Given the description of an element on the screen output the (x, y) to click on. 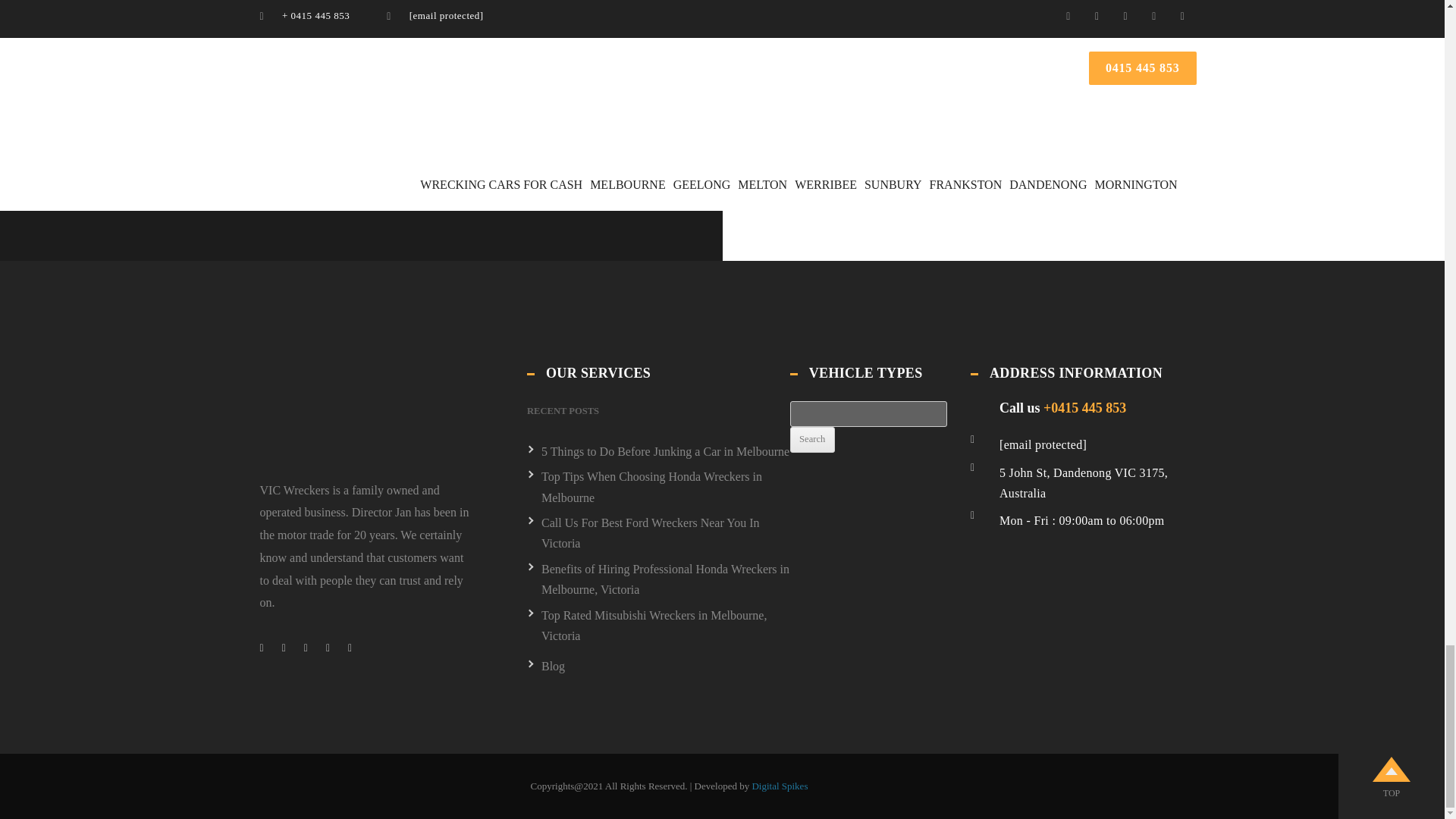
Send Message (177, 169)
Search (812, 439)
